Given the description of an element on the screen output the (x, y) to click on. 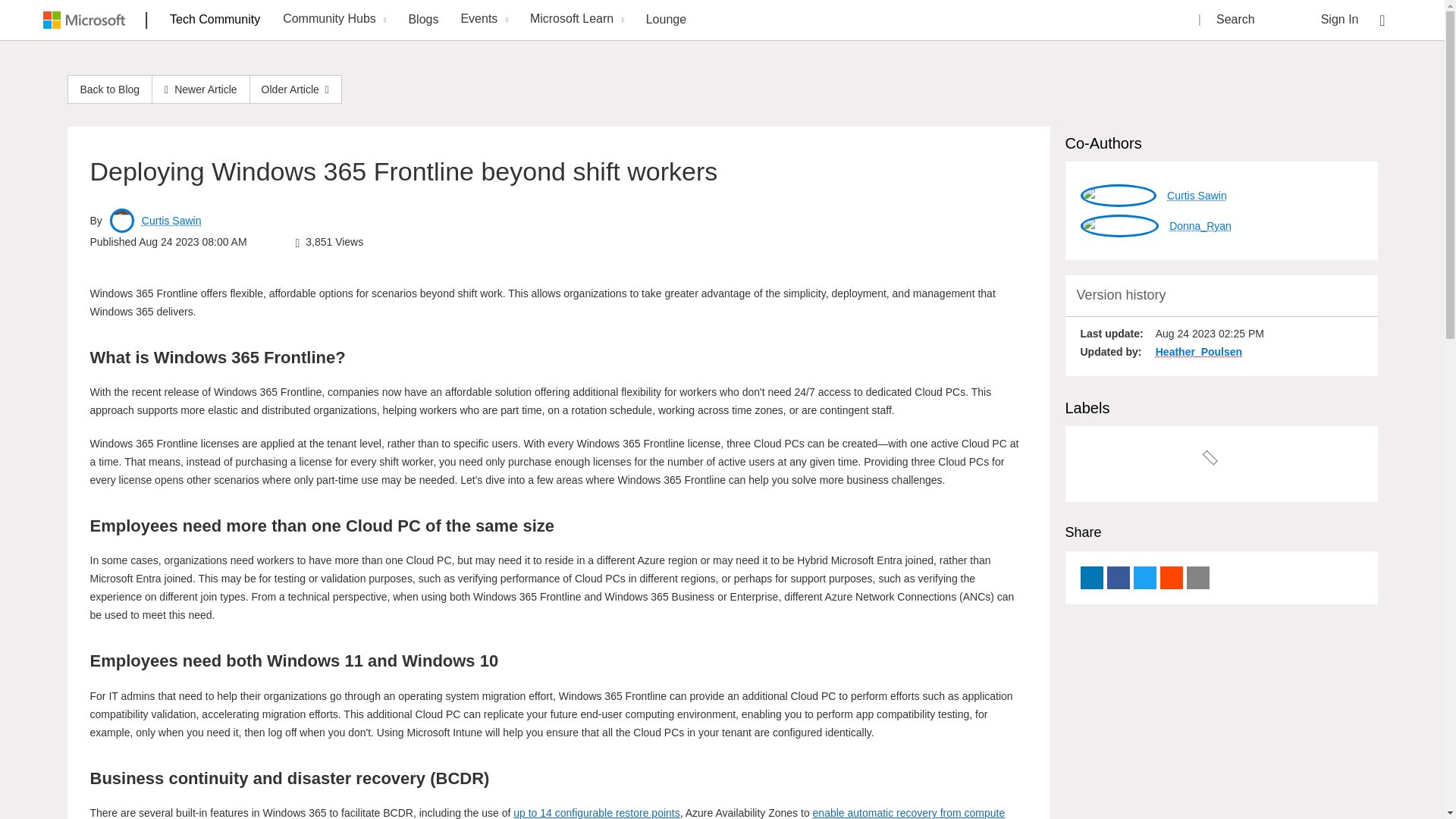
Tech Community (215, 18)
Community Hubs (332, 19)
